Given the description of an element on the screen output the (x, y) to click on. 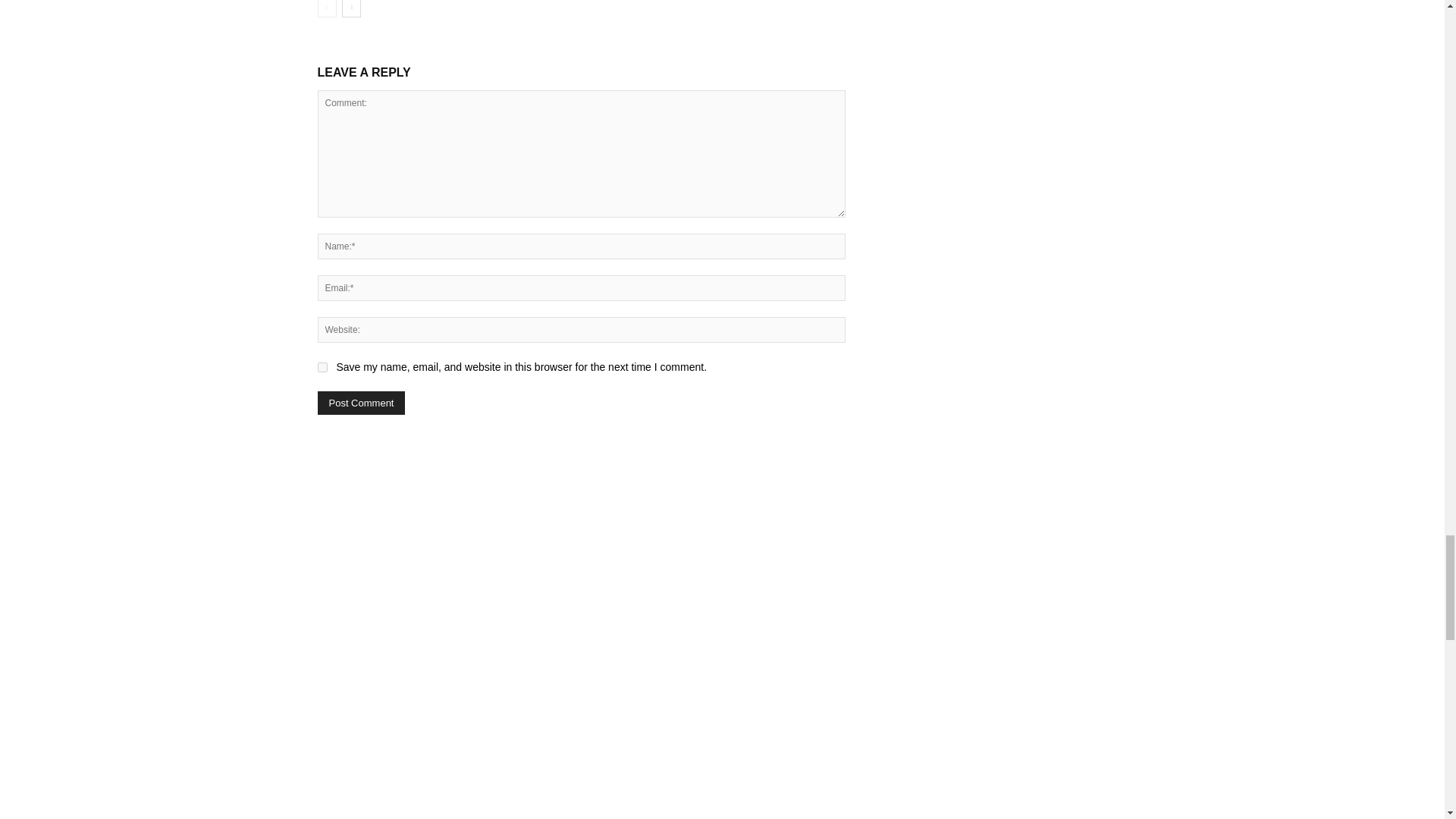
Post Comment (360, 402)
yes (321, 367)
